Given the description of an element on the screen output the (x, y) to click on. 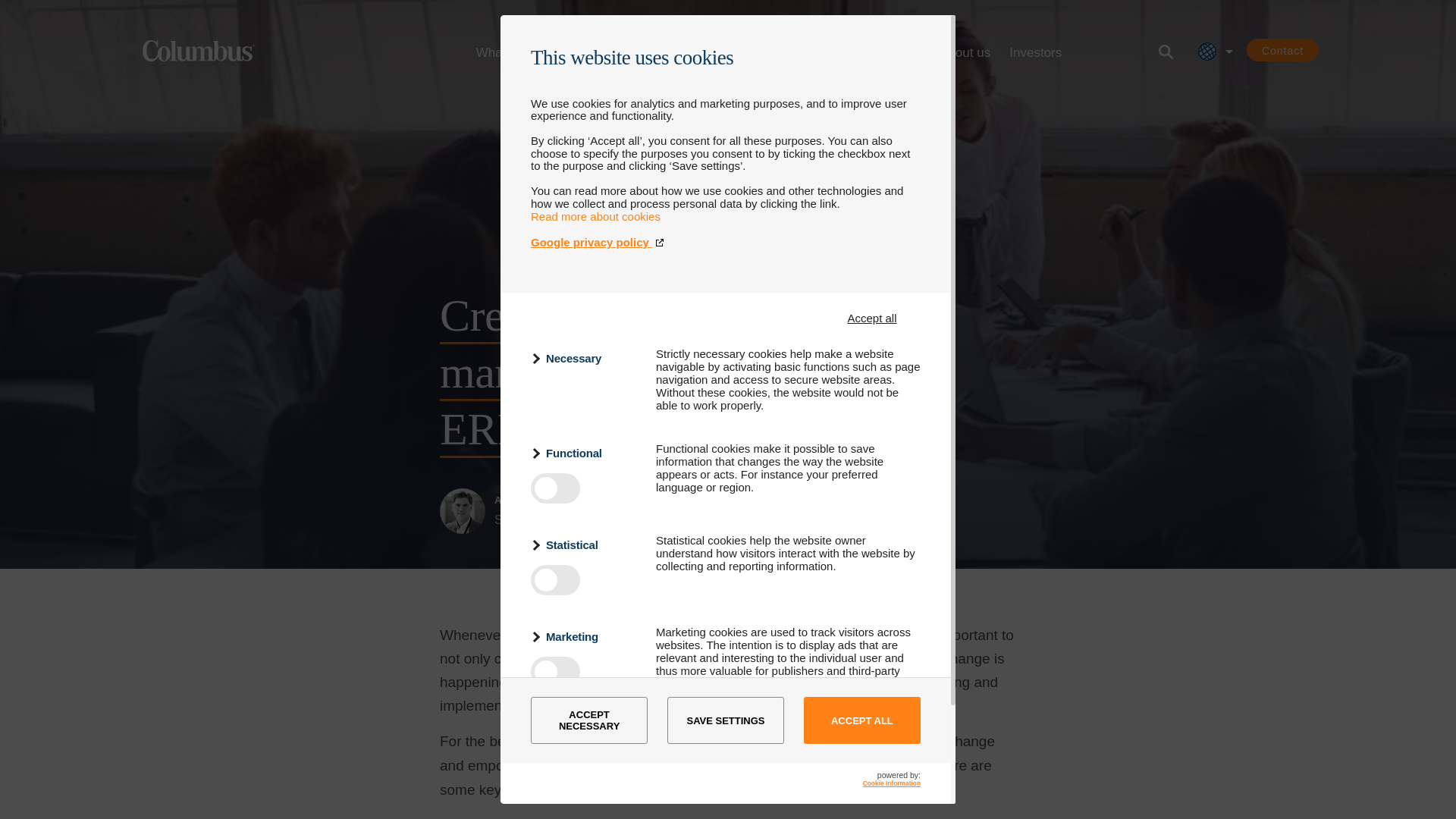
Functional (584, 453)
Necessary (584, 358)
Accept all (872, 318)
Google privacy policy (725, 242)
Marketing (584, 636)
Statistical (584, 544)
Read more about cookies (596, 215)
